Given the description of an element on the screen output the (x, y) to click on. 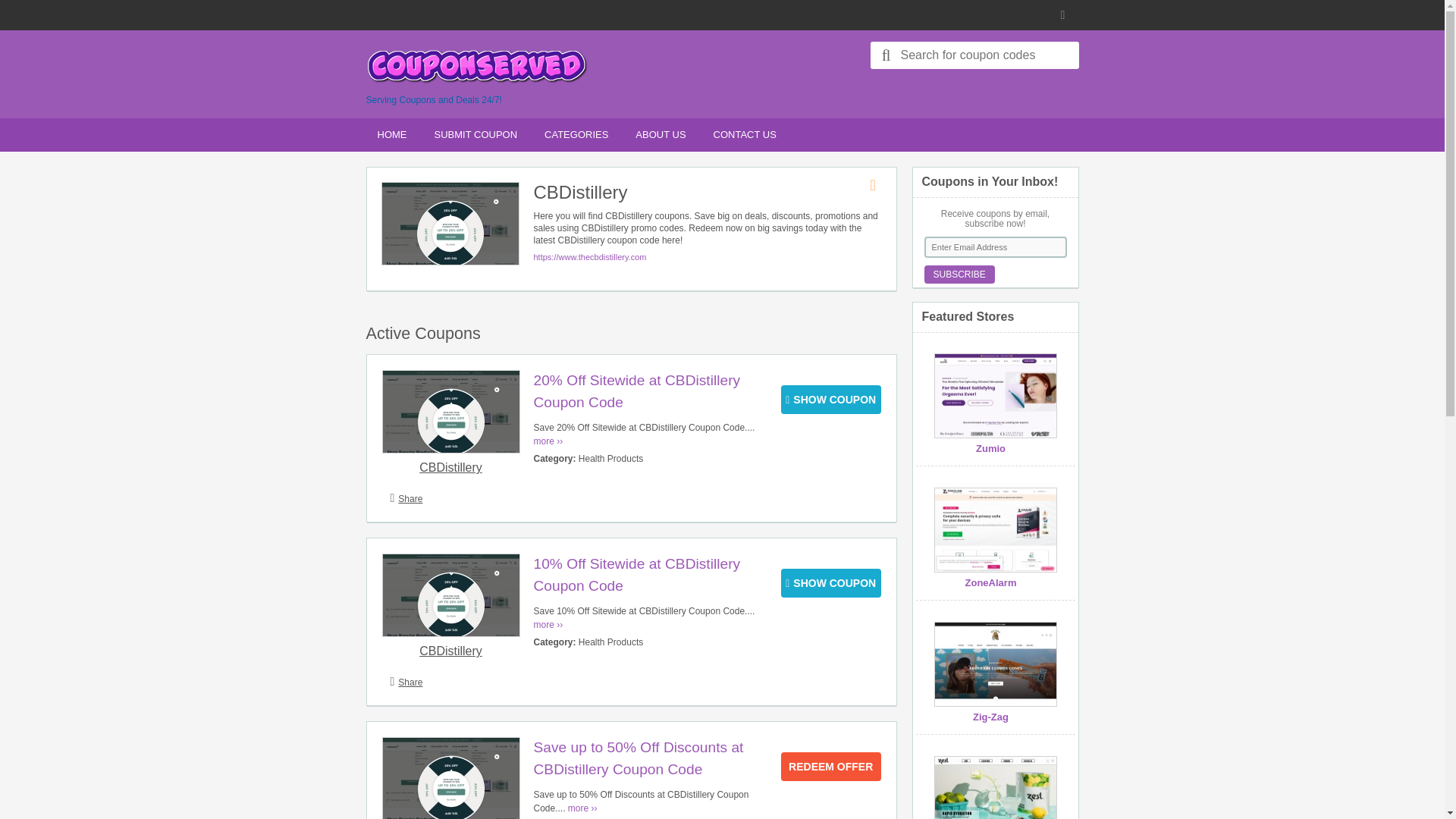
CBDistillery (450, 650)
RSS (1064, 14)
CBDistillery (450, 467)
SUBMIT COUPON (476, 134)
SHOW COUPON (830, 399)
Health Products (610, 458)
HOME (391, 134)
ABOUT US (660, 134)
Store RSS (877, 185)
Share (409, 498)
Search (886, 54)
Search (886, 54)
CONTACT US (744, 134)
CATEGORIES (576, 134)
